Given the description of an element on the screen output the (x, y) to click on. 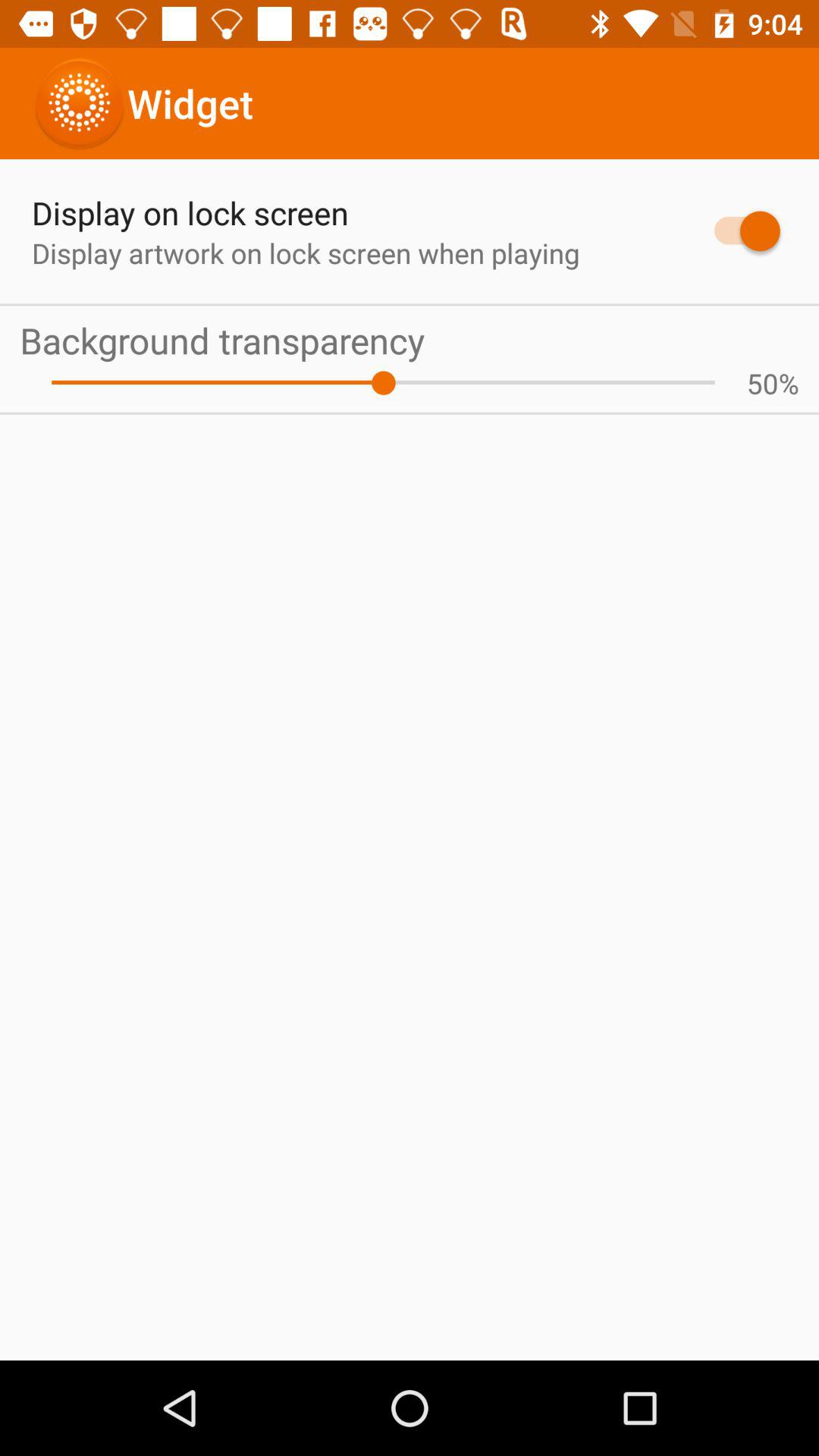
select app below the background transparency app (762, 383)
